Given the description of an element on the screen output the (x, y) to click on. 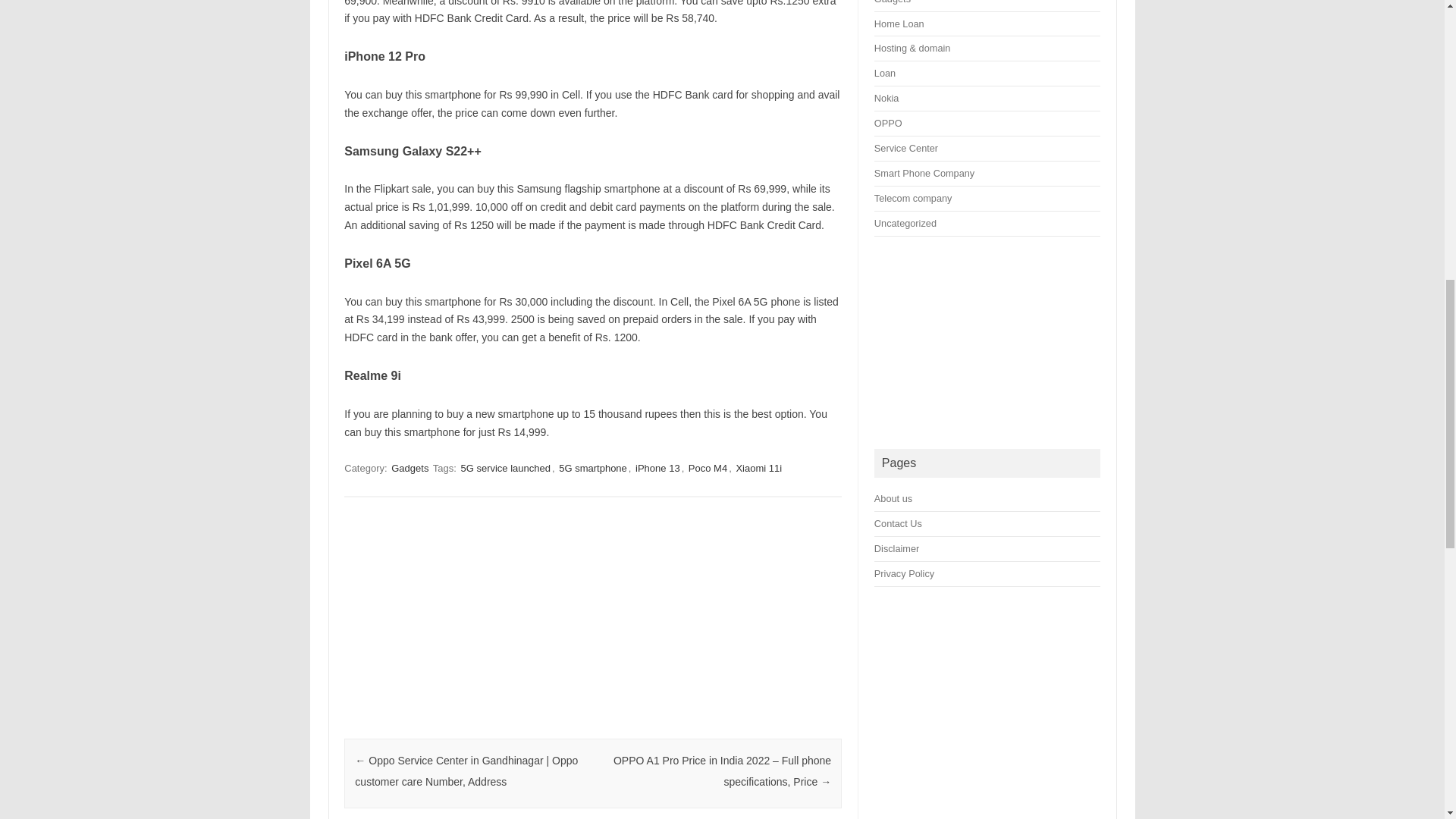
Gadgets (893, 2)
Loan (885, 72)
OPPO (888, 122)
Advertisement (592, 624)
Nokia (887, 98)
Service Center (906, 147)
Gadgets (409, 468)
5G service launched (504, 468)
5G smartphone (592, 468)
Xiaomi 11i (758, 468)
Advertisement (987, 342)
Home Loan (899, 23)
Smart Phone Company (924, 173)
iPhone 13 (657, 468)
Poco M4 (708, 468)
